Given the description of an element on the screen output the (x, y) to click on. 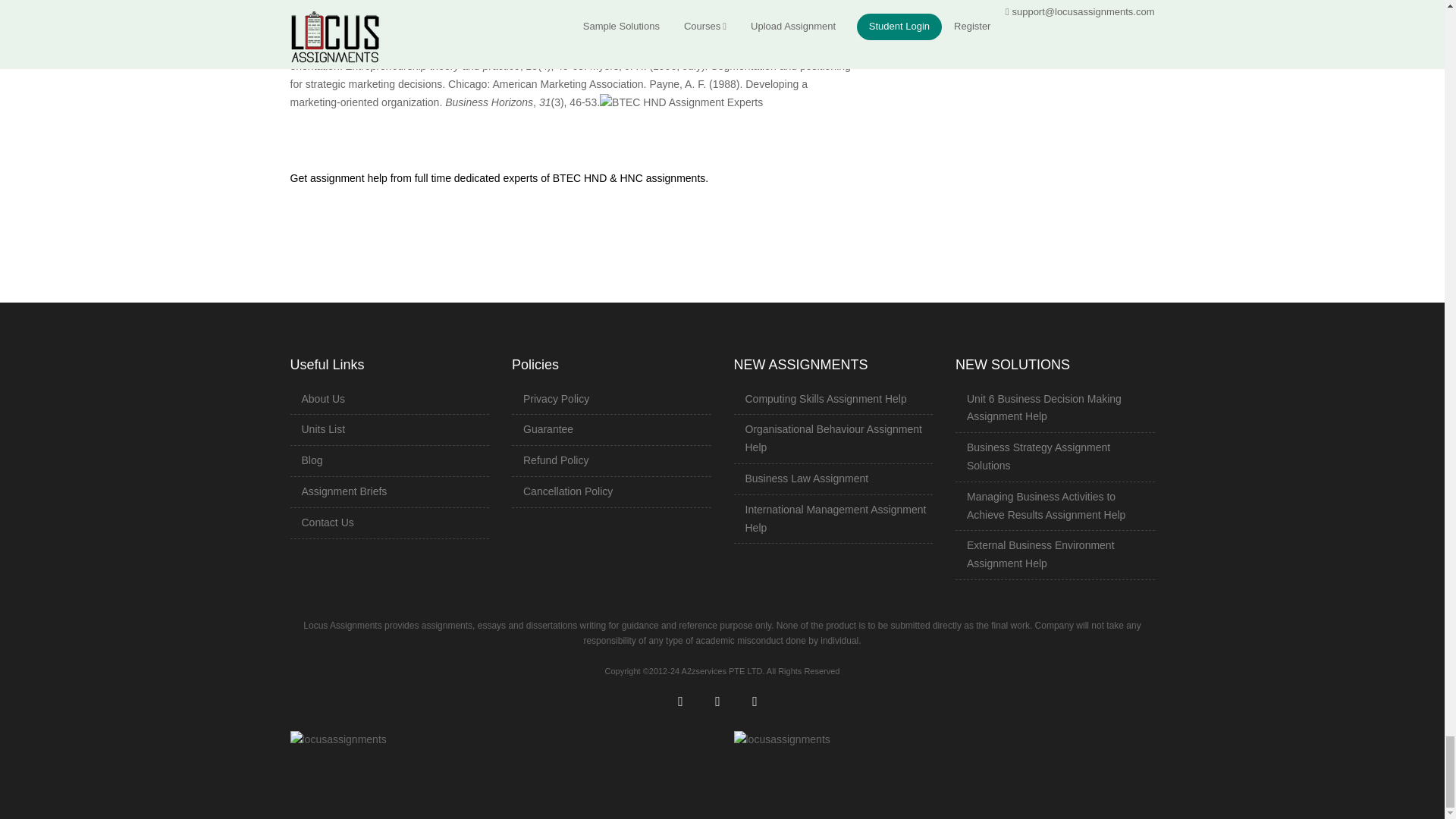
Units (323, 428)
About Us (323, 398)
Contact Us (327, 522)
Blog (312, 460)
Assignments (344, 491)
